Given the description of an element on the screen output the (x, y) to click on. 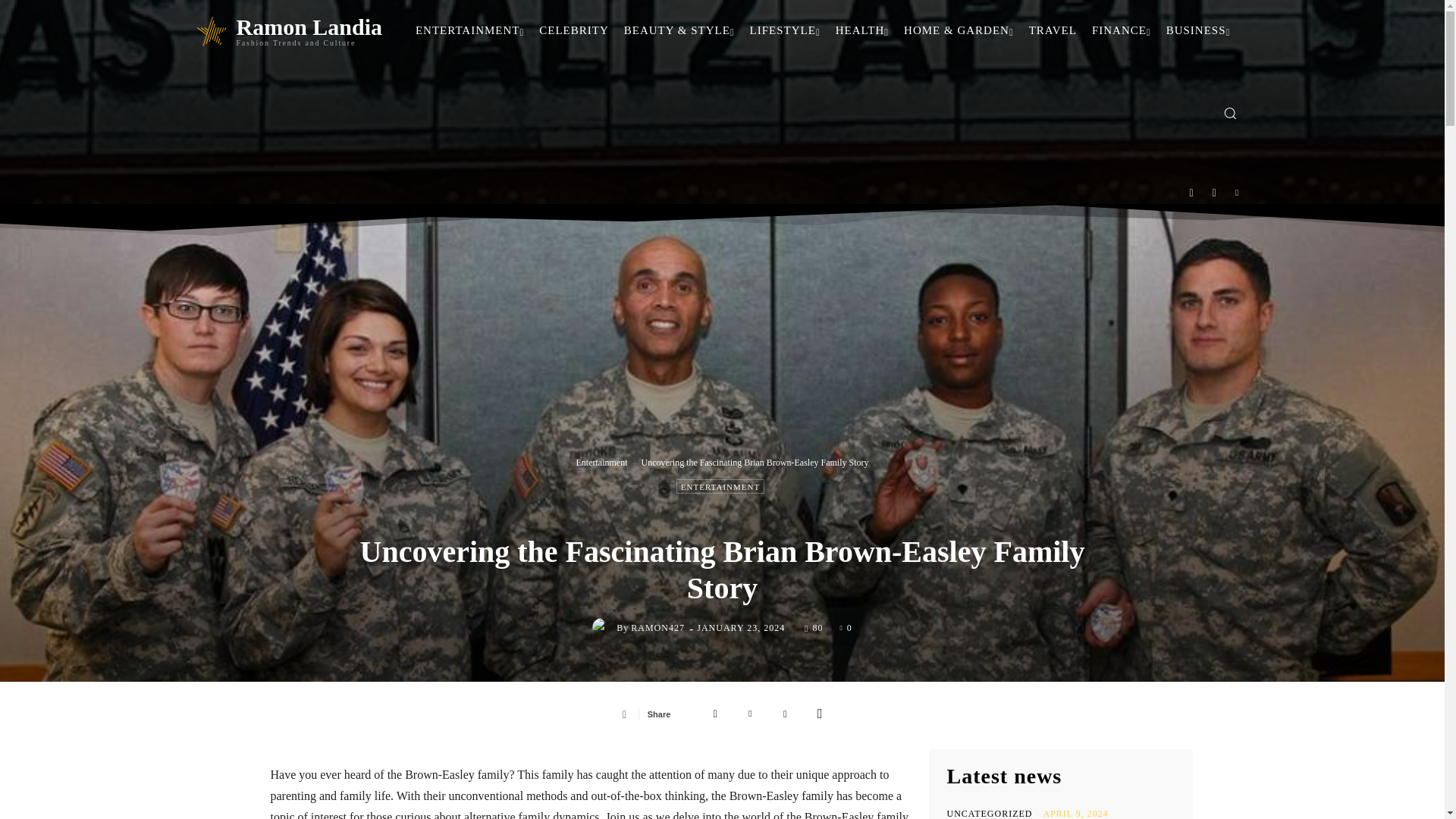
Facebook (715, 713)
Instagram (1214, 192)
ramon427 (603, 628)
View all posts in Entertainment (601, 462)
Twitter (1237, 192)
Facebook (1191, 192)
WhatsApp (819, 713)
Twitter (750, 713)
Pinterest (784, 713)
